Given the description of an element on the screen output the (x, y) to click on. 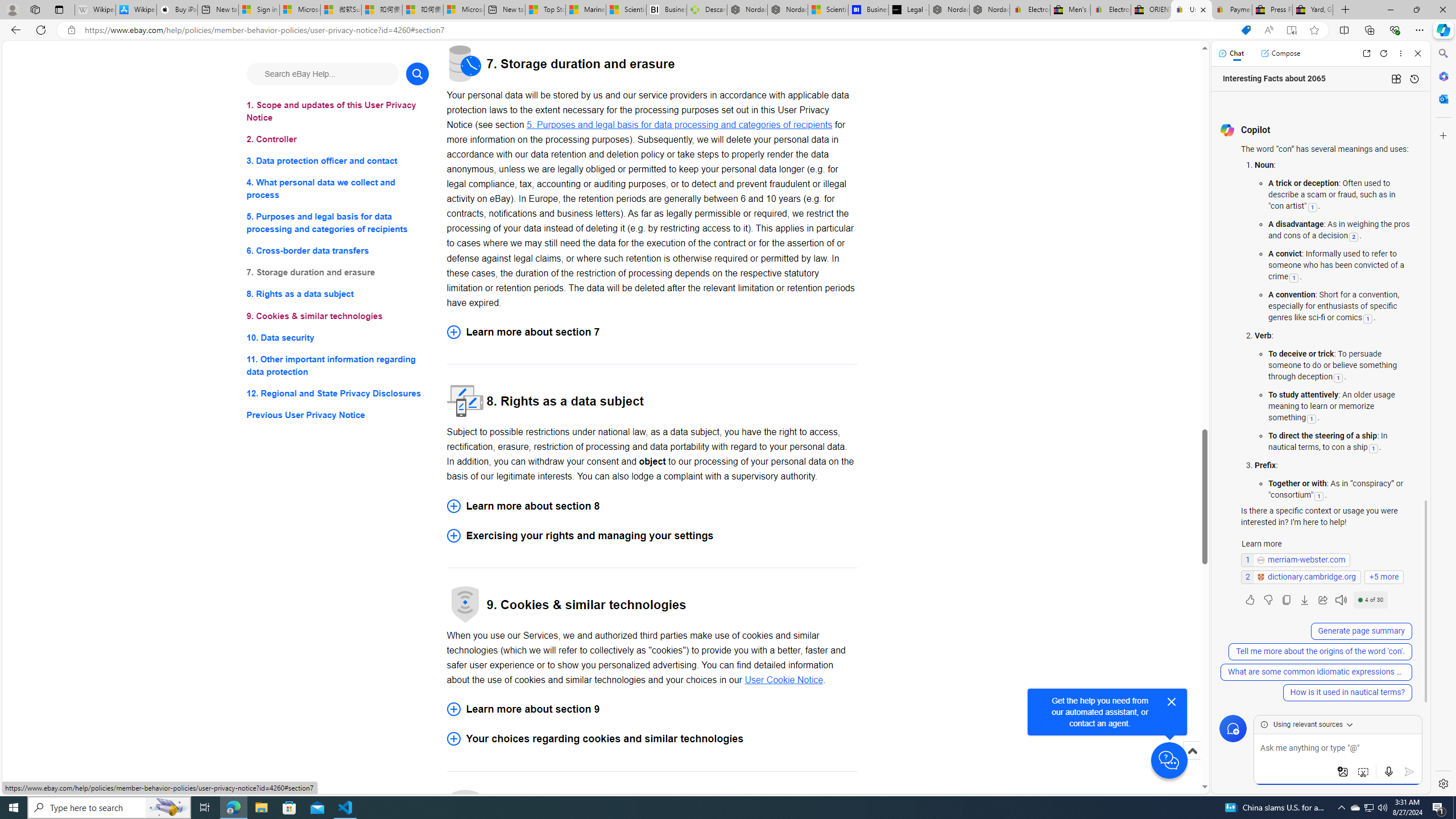
Previous User Privacy Notice (337, 414)
9. Cookies & similar technologies (337, 315)
Nordace - Summer Adventures 2024 (949, 9)
Learn more about section 9 (651, 709)
